Given the description of an element on the screen output the (x, y) to click on. 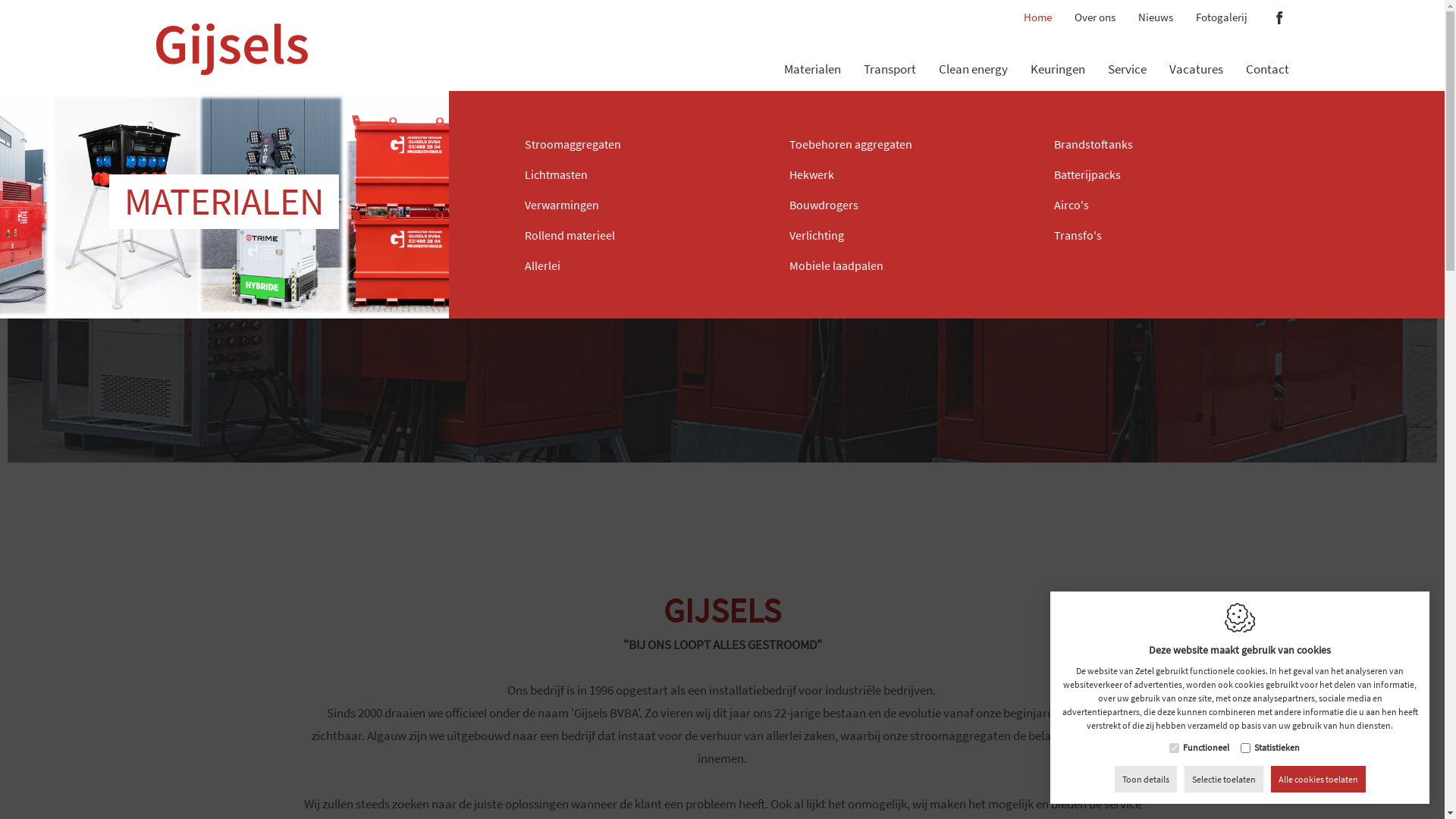
Clean energy Element type: text (972, 47)
Batterijpacks Element type: text (1167, 176)
Bouwdrogers Element type: text (902, 206)
Transport Element type: text (888, 47)
Airco's Element type: text (1167, 206)
Brandstoftanks Element type: text (1167, 145)
Keuringen Element type: text (1056, 47)
Selectie toelaten Element type: text (1223, 778)
Toebehoren aggregaten Element type: text (902, 145)
Mobiele laadpalen Element type: text (902, 267)
Stroomaggregaten Element type: text (637, 145)
Hekwerk Element type: text (902, 176)
Lichtmasten Element type: text (637, 176)
Allerlei Element type: text (637, 267)
Verlichting Element type: text (902, 236)
Rollend materieel Element type: text (637, 236)
Materialen Element type: text (812, 47)
Transfo's Element type: text (1167, 236)
Contact Element type: text (1266, 47)
Over ons Element type: text (1093, 13)
Service Element type: text (1126, 47)
Nieuws Element type: text (1154, 13)
Alle cookies toelaten Element type: text (1317, 778)
Vacatures Element type: text (1196, 47)
Verwarmingen Element type: text (637, 206)
Fotogalerij Element type: text (1220, 13)
Home Element type: text (1037, 13)
